Given the description of an element on the screen output the (x, y) to click on. 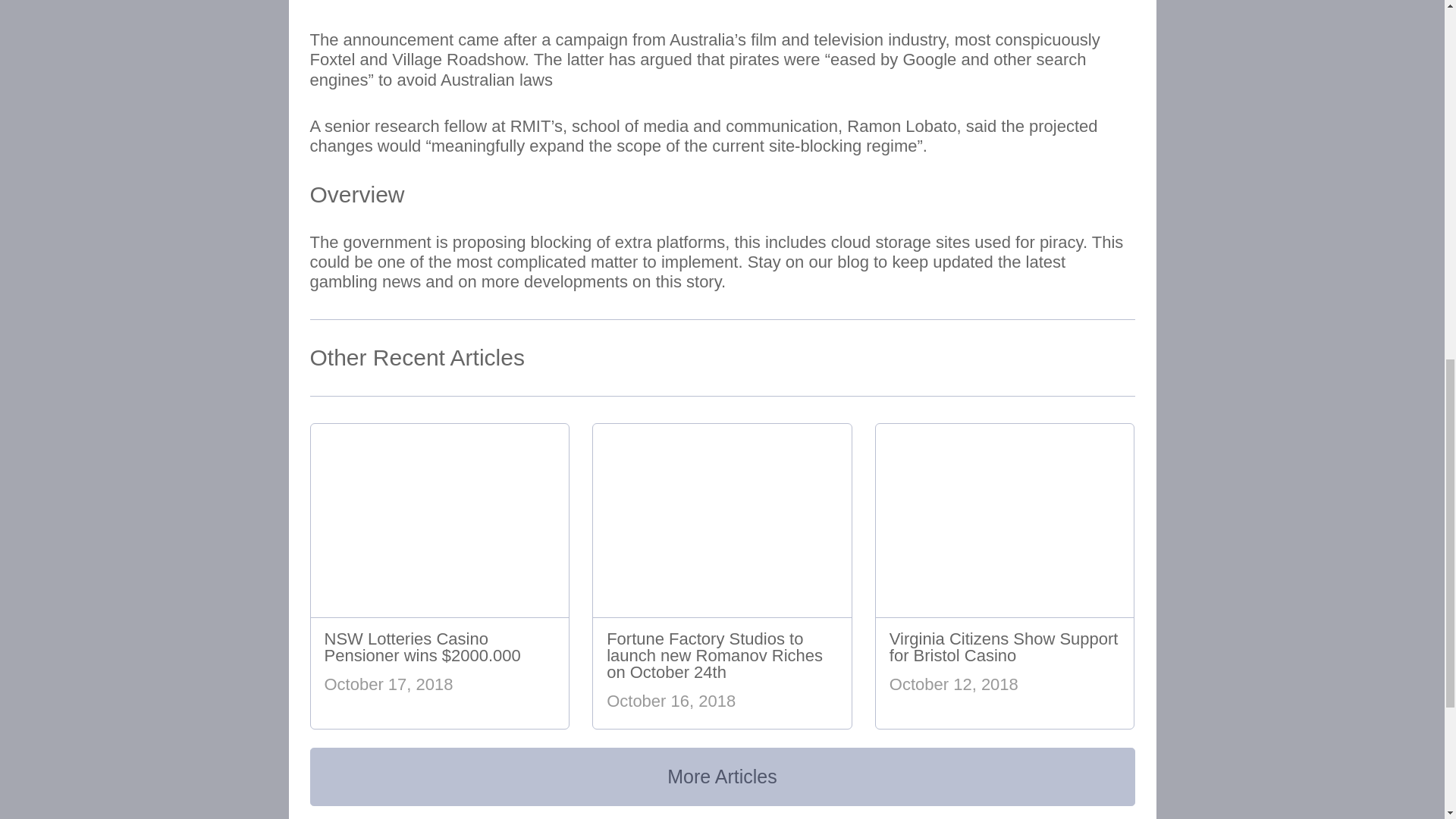
More Articles (721, 776)
